Given the description of an element on the screen output the (x, y) to click on. 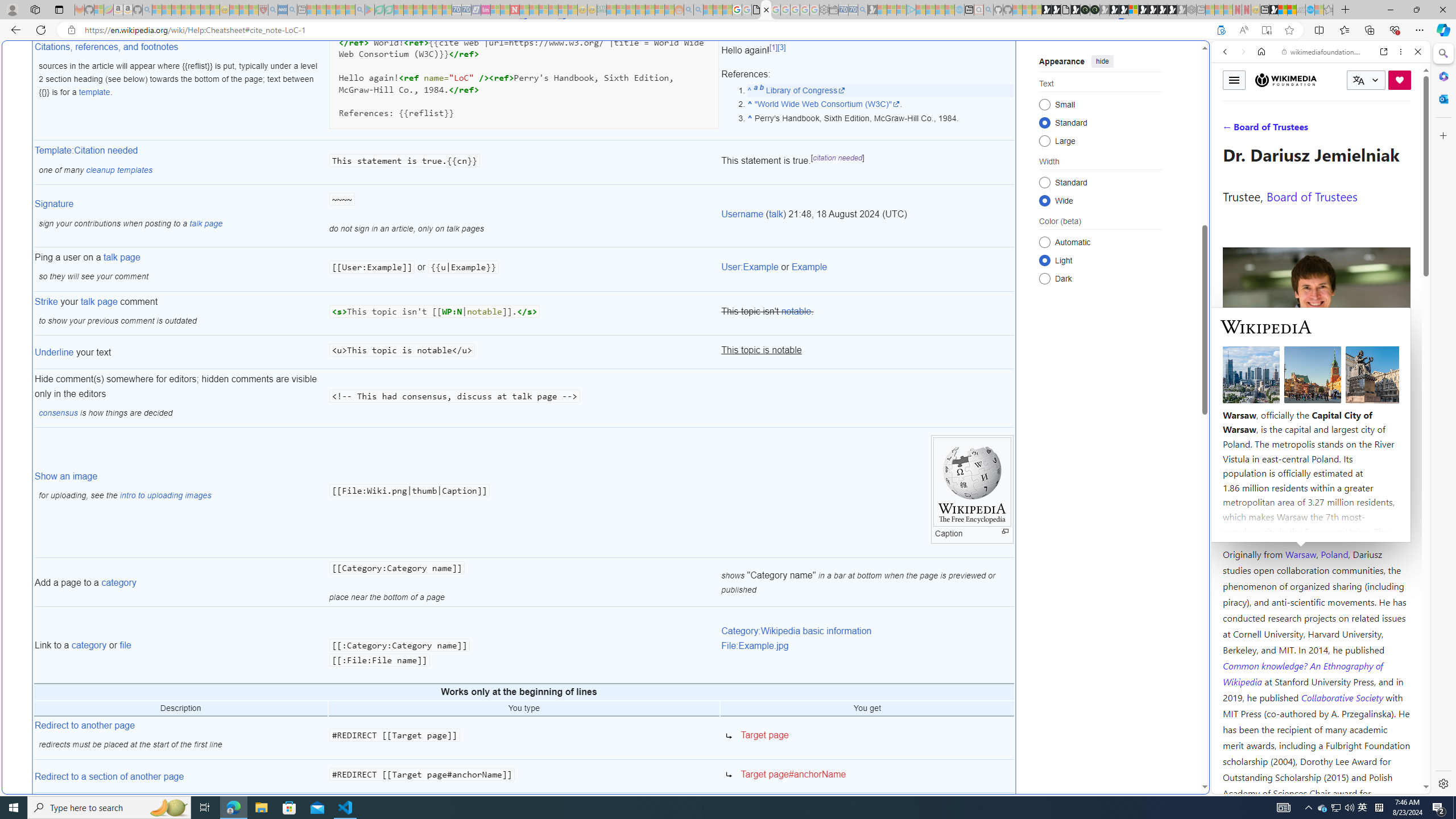
[3] (781, 47)
